Given the description of an element on the screen output the (x, y) to click on. 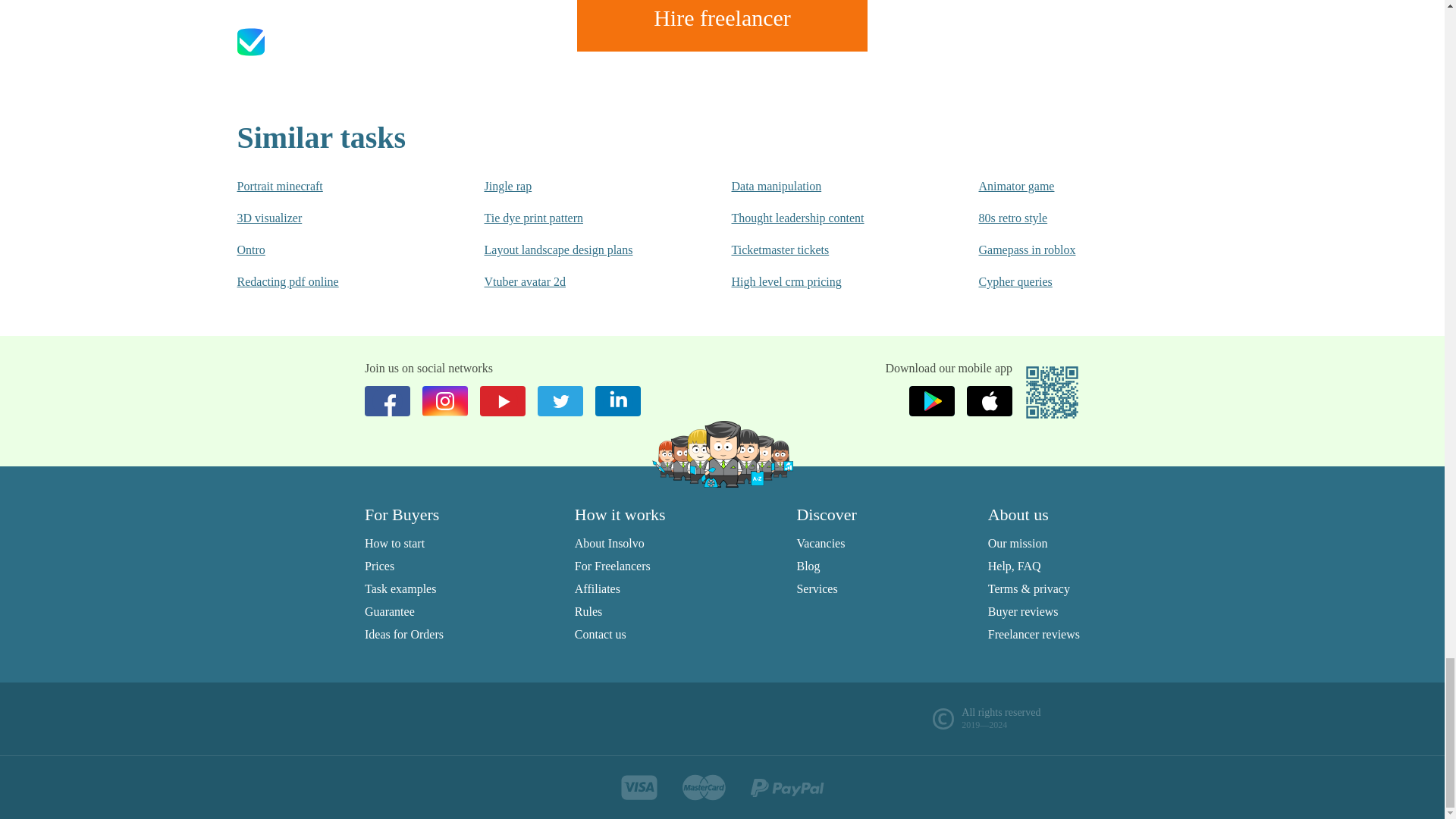
Cypher queries (1071, 281)
Jingle rap (576, 186)
Data manipulation (823, 186)
About Insolvo (610, 543)
Gamepass in roblox (1071, 249)
80s retro style (1071, 217)
For Freelancers (612, 565)
Ideas for Orders (404, 634)
Task examples (400, 588)
Ontro (329, 249)
Thought leadership content (823, 217)
Affiliates (597, 588)
3D visualizer (329, 217)
Tie dye print pattern (576, 217)
Prices (379, 565)
